Given the description of an element on the screen output the (x, y) to click on. 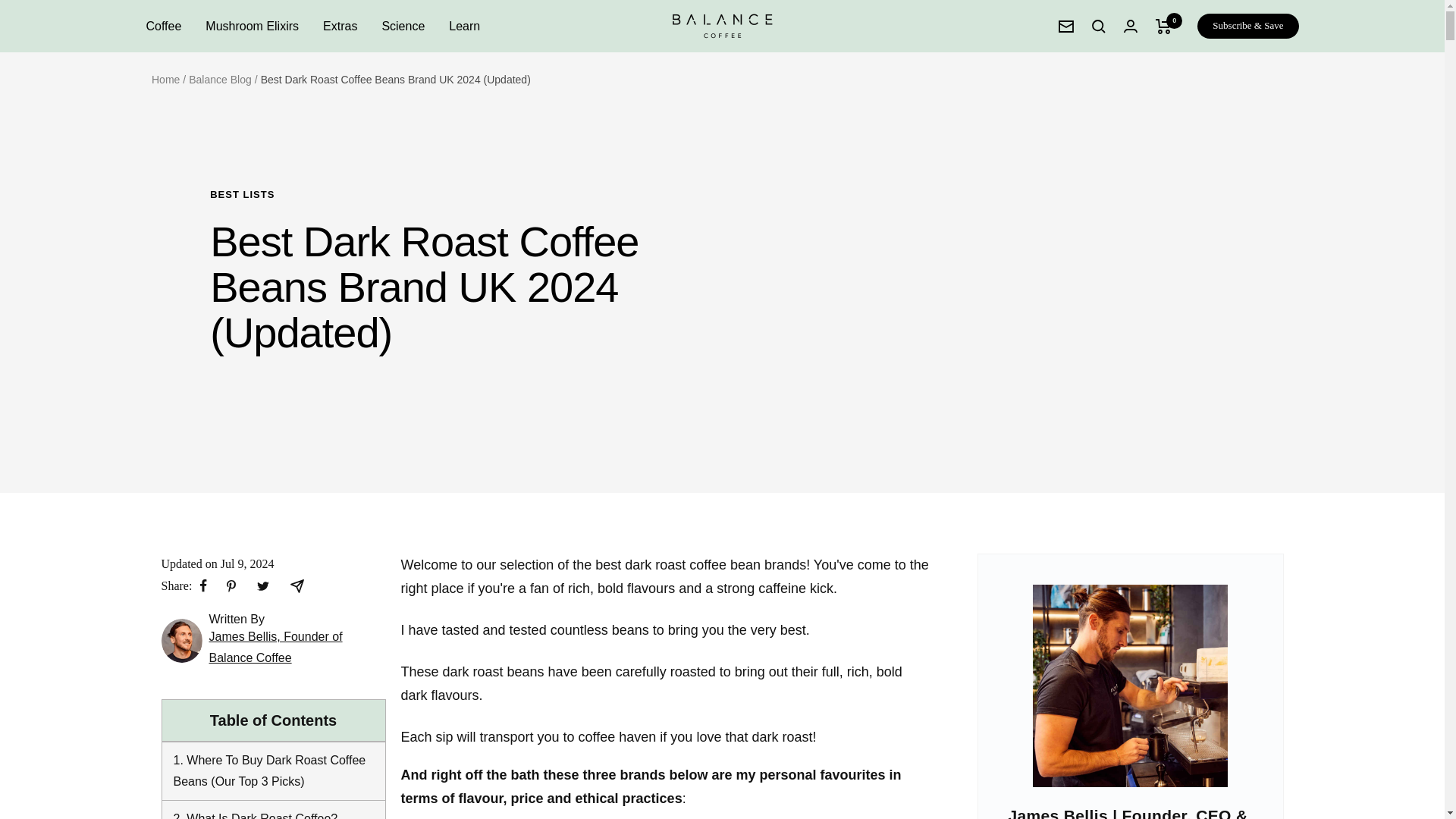
Home (165, 79)
Balance Blog (220, 79)
Balance Coffee: Buy Healthy Coffee Roasted In The UK (721, 26)
Learn (464, 25)
Science (403, 25)
BEST LISTS (438, 194)
Mushroom Elixirs (251, 25)
Newsletter (1066, 25)
Coffee (162, 25)
0 (1164, 25)
Extras (339, 25)
